Given the description of an element on the screen output the (x, y) to click on. 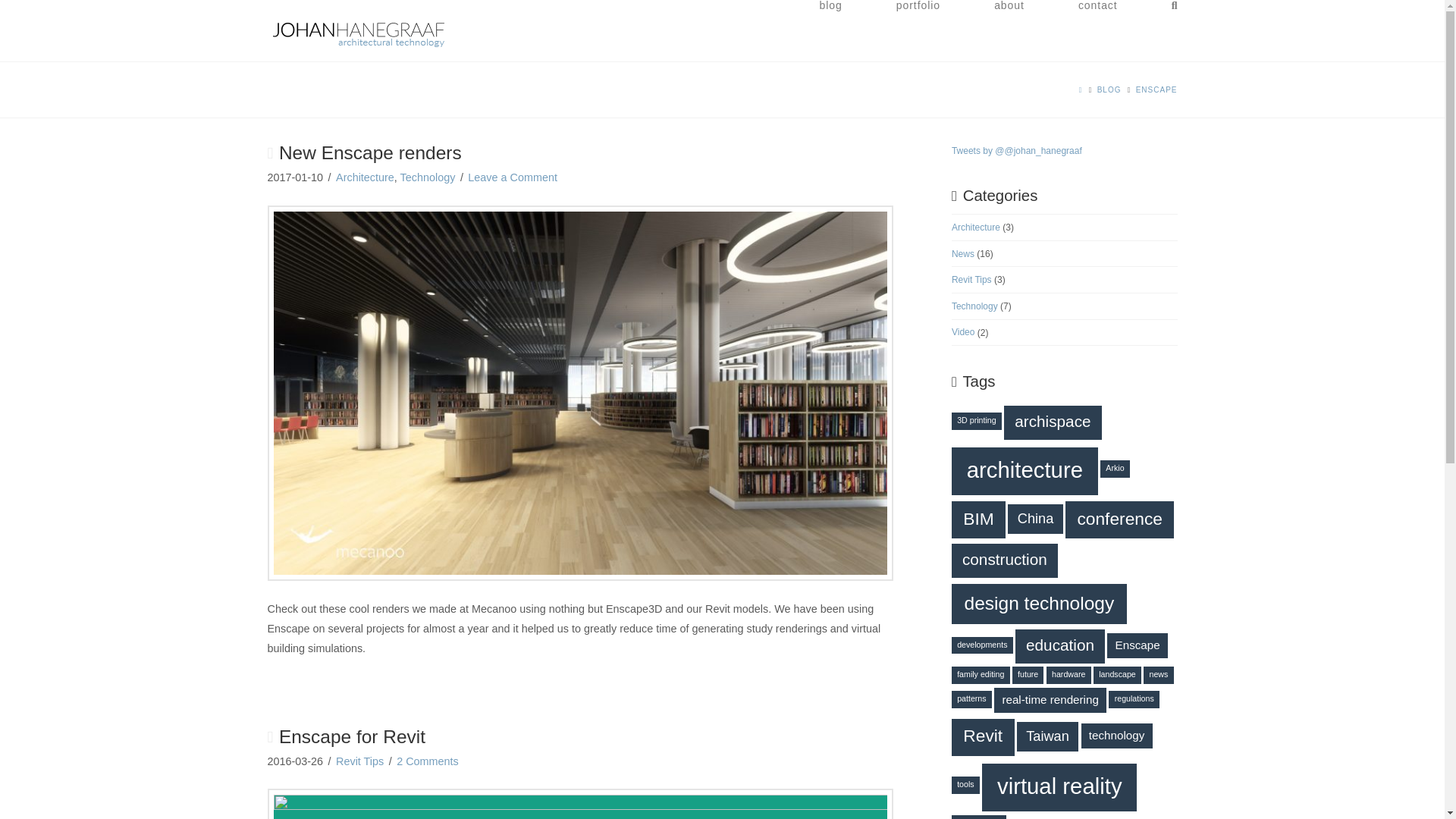
conference (1119, 519)
Revit Tips (360, 761)
3D printing (976, 420)
Video (963, 332)
Leave a Comment (512, 177)
Technology (427, 177)
Permalink to: "New Enscape renders" (370, 152)
design technology (1039, 603)
Arkio (1114, 468)
News (963, 254)
